Given the description of an element on the screen output the (x, y) to click on. 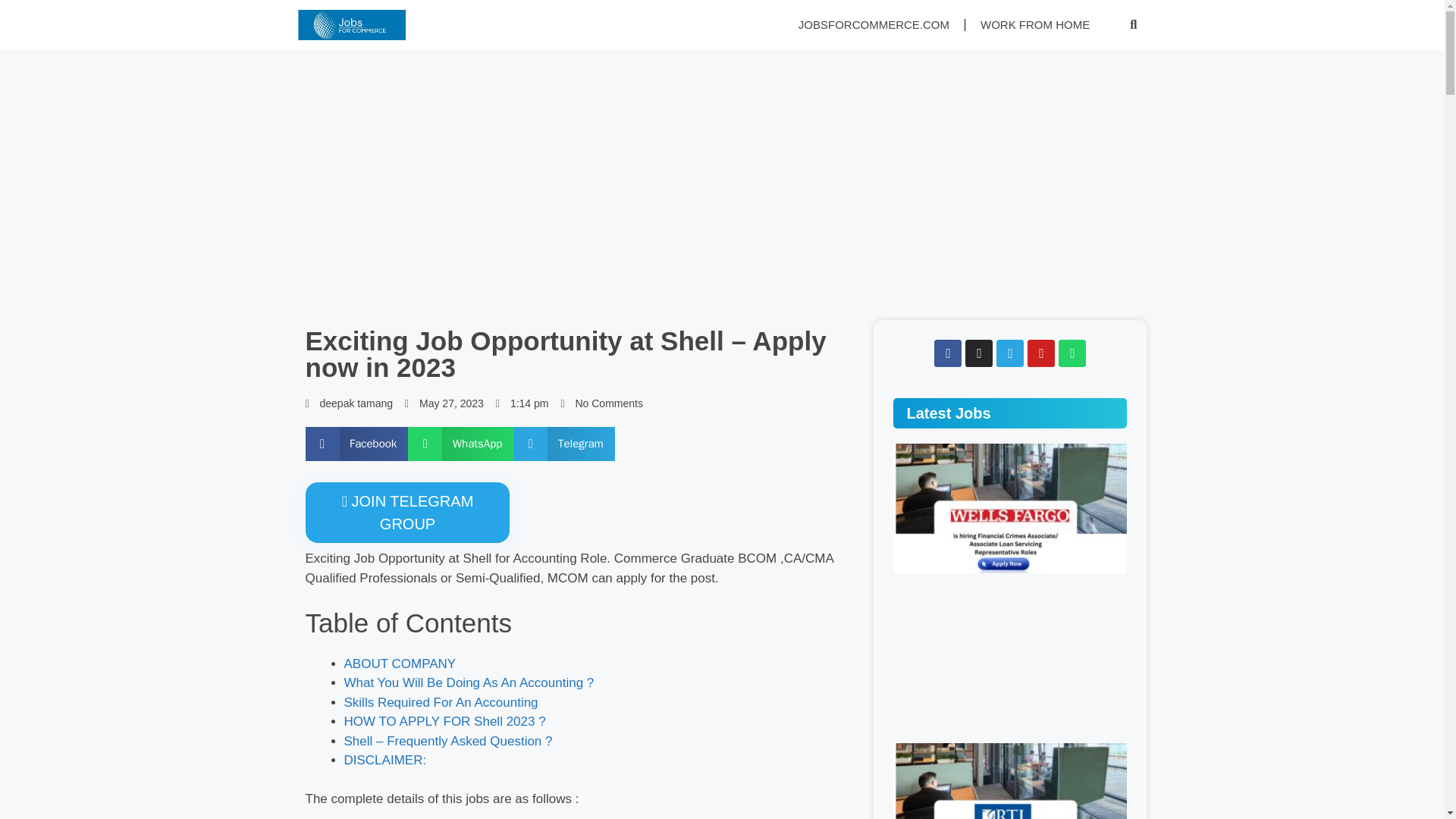
JOBSFORCOMMERCE.COM (873, 24)
JOIN TELEGRAM GROUP (406, 512)
Skills Required For An Accounting (440, 701)
HOW TO APPLY FOR Shell 2023 ? (444, 721)
May 27, 2023 (443, 403)
DISCLAIMER: (384, 759)
No Comments (601, 403)
ABOUT COMPANY (400, 663)
deepak tamang (348, 403)
What You Will Be Doing As An Accounting ? (468, 682)
WORK FROM HOME (1035, 24)
